Given the description of an element on the screen output the (x, y) to click on. 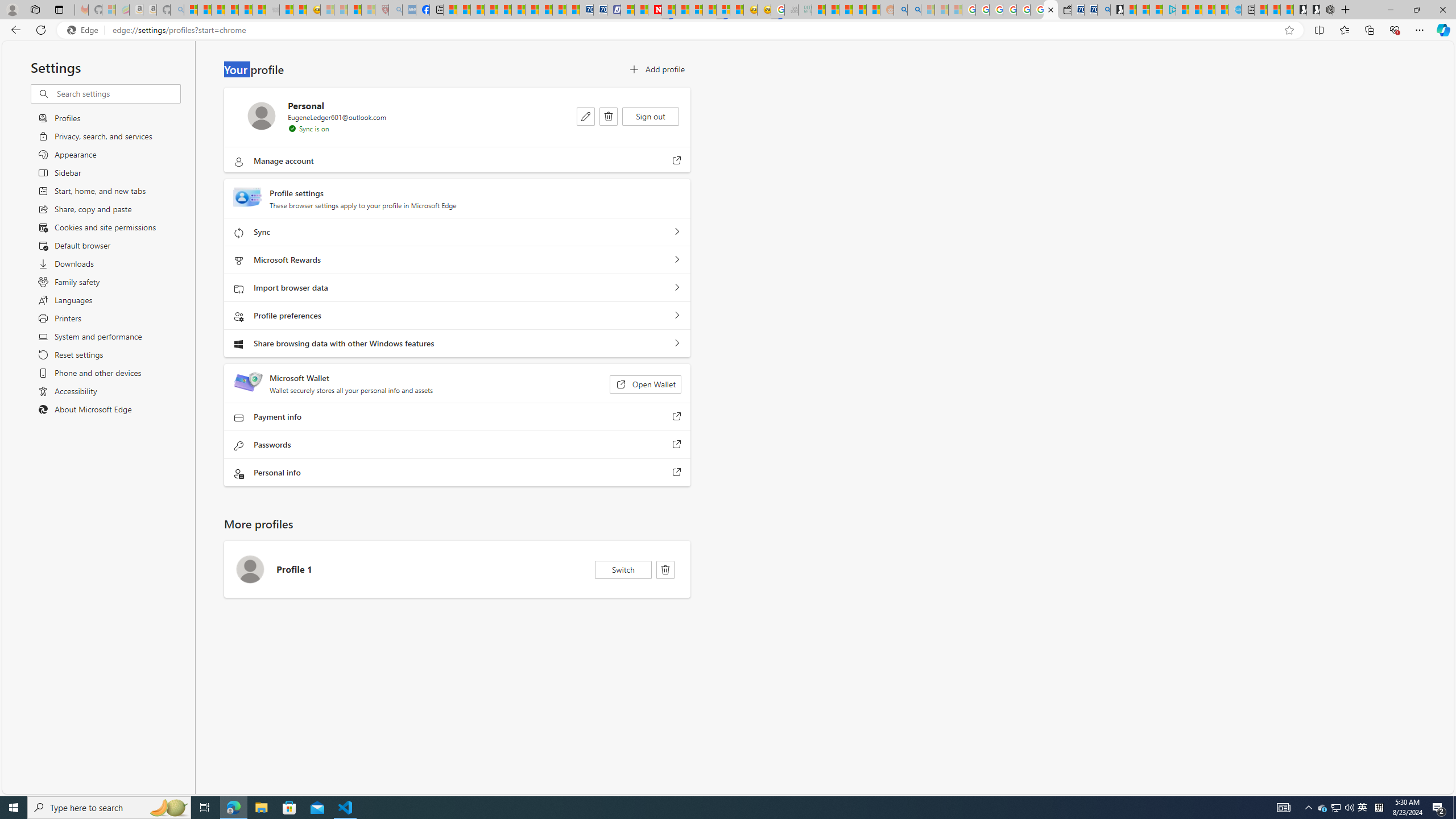
DITOGAMES AG Imprint - Sleeping (804, 9)
Science - MSN (354, 9)
